Given the description of an element on the screen output the (x, y) to click on. 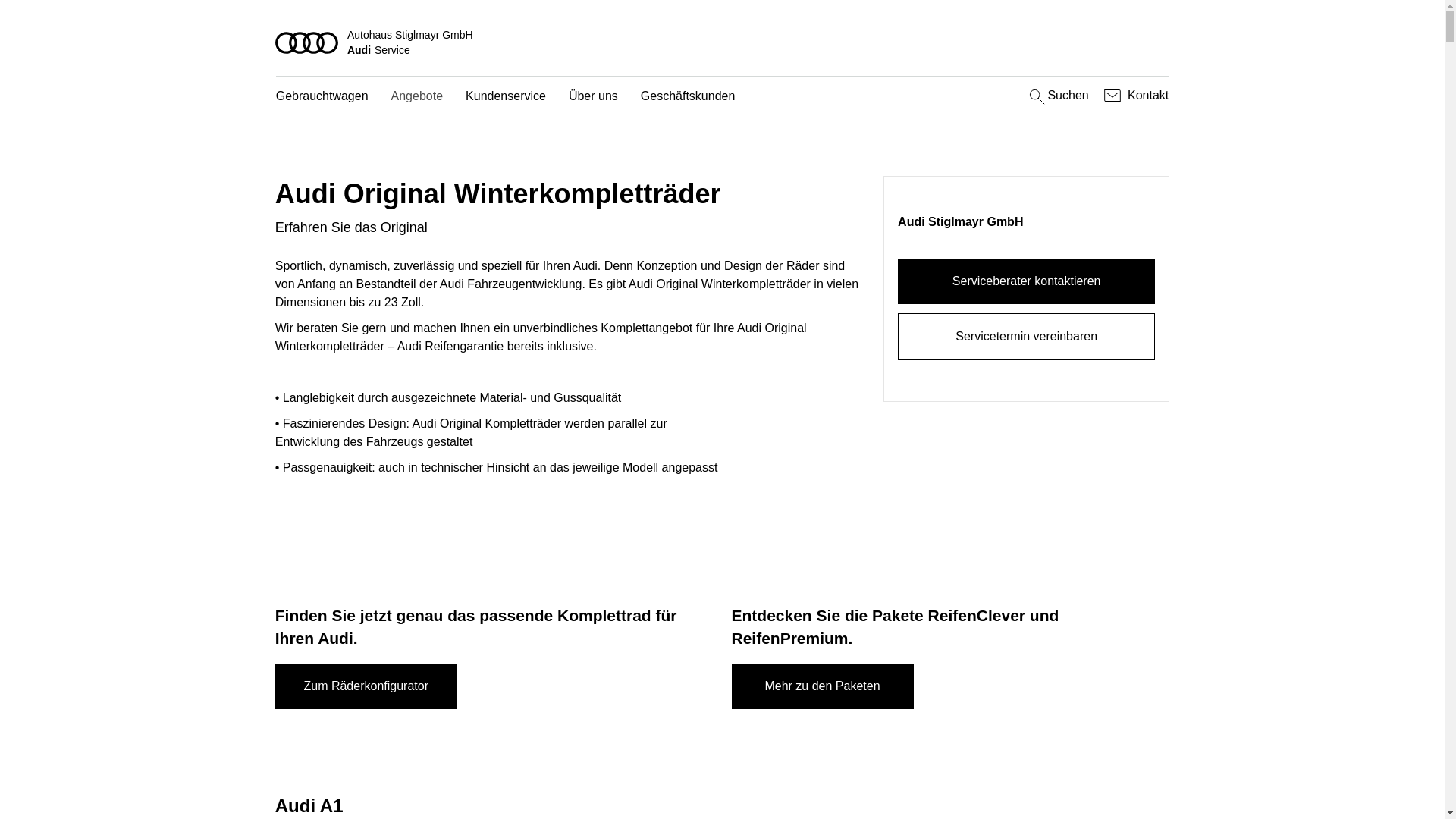
Gebrauchtwagen Element type: text (322, 96)
Serviceberater kontaktieren Element type: text (1025, 281)
Autohaus Stiglmayr GmbH
AudiService Element type: text (722, 42)
Suchen Element type: text (1056, 95)
Angebote Element type: text (417, 96)
Mehr zu den Paketen Element type: text (822, 686)
Kontakt Element type: text (1134, 95)
Kundenservice Element type: text (505, 96)
Servicetermin vereinbaren Element type: text (1025, 336)
